Given the description of an element on the screen output the (x, y) to click on. 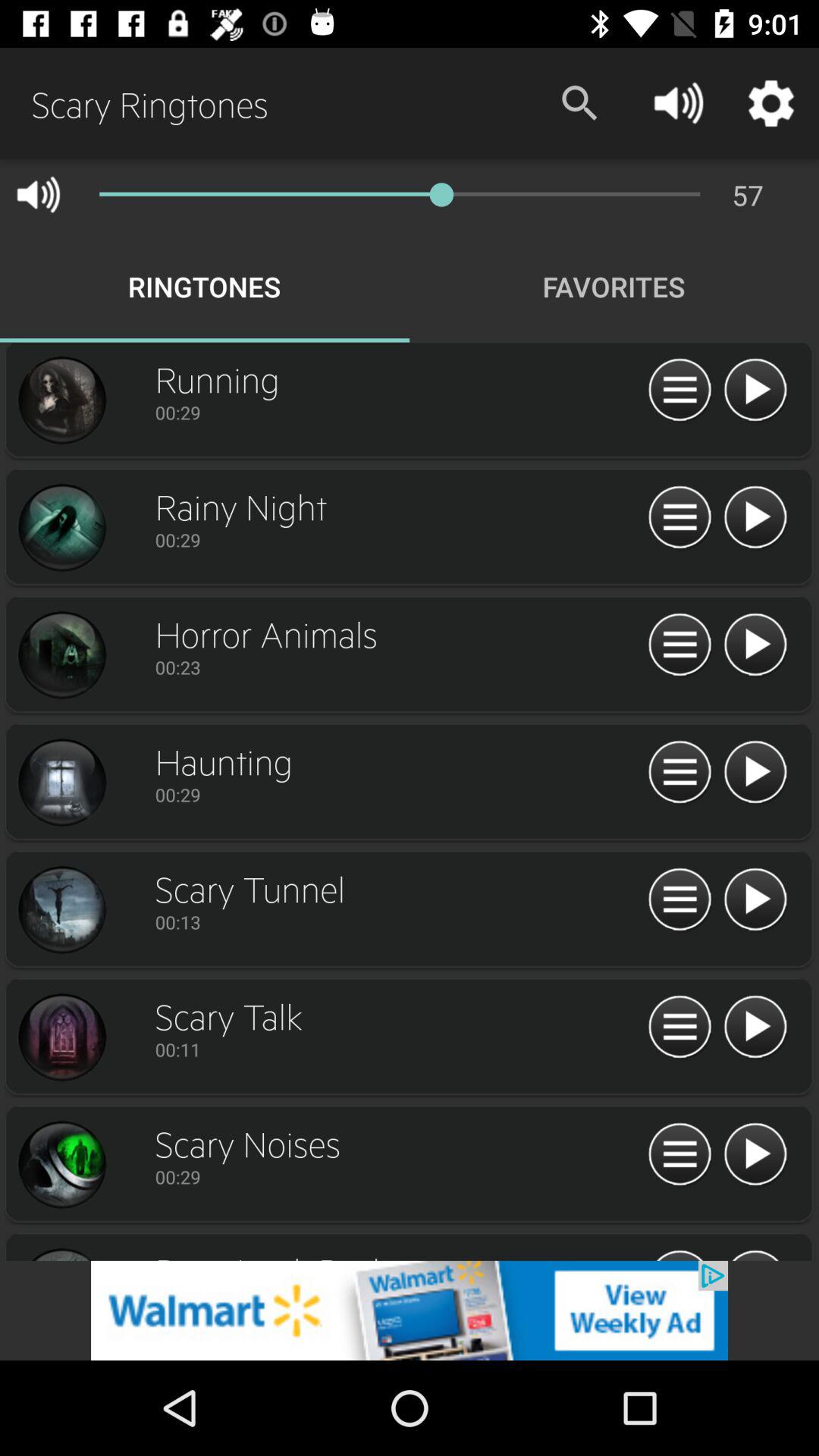
select picture (61, 528)
